Given the description of an element on the screen output the (x, y) to click on. 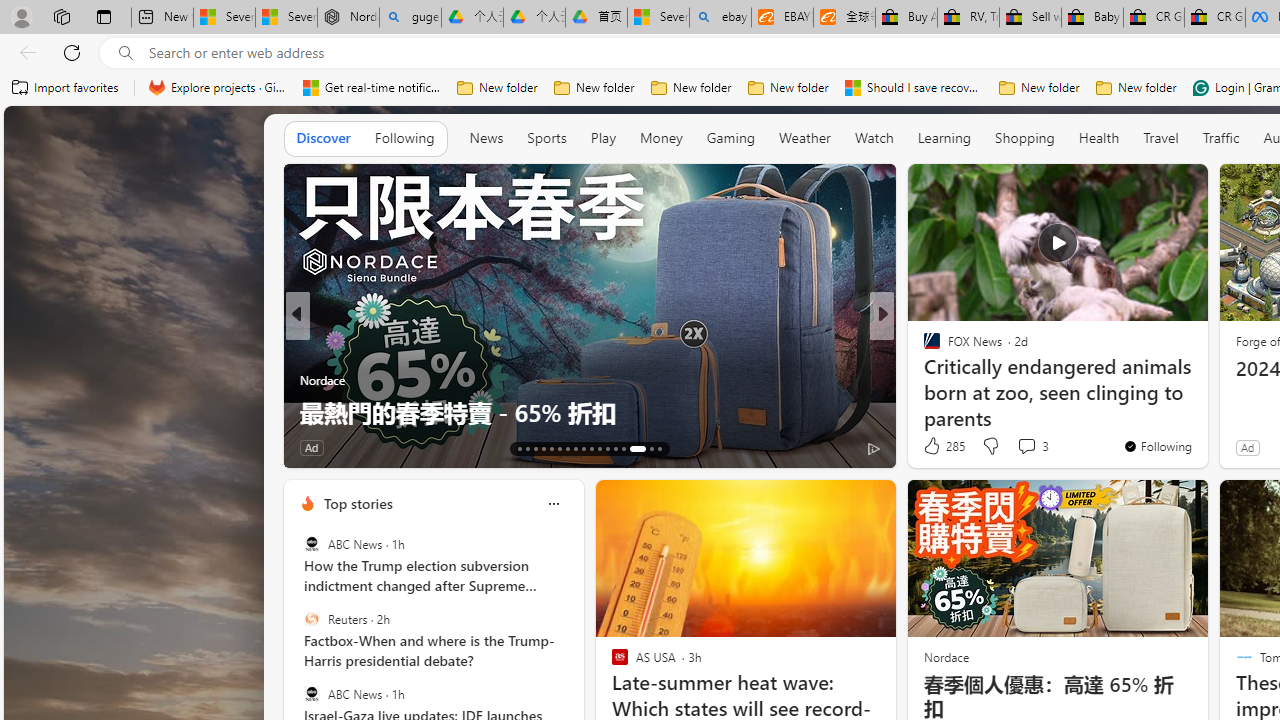
Class: icon-img (553, 503)
Baby Keepsakes & Announcements for sale | eBay (1092, 17)
Learning (944, 137)
RV, Trailer & Camper Steps & Ladders for sale | eBay (968, 17)
AutomationID: tab-20 (574, 448)
Money (661, 138)
Sports (546, 138)
View comments 2 Comment (1014, 447)
AutomationID: tab-39 (623, 448)
Health (1099, 137)
